Given the description of an element on the screen output the (x, y) to click on. 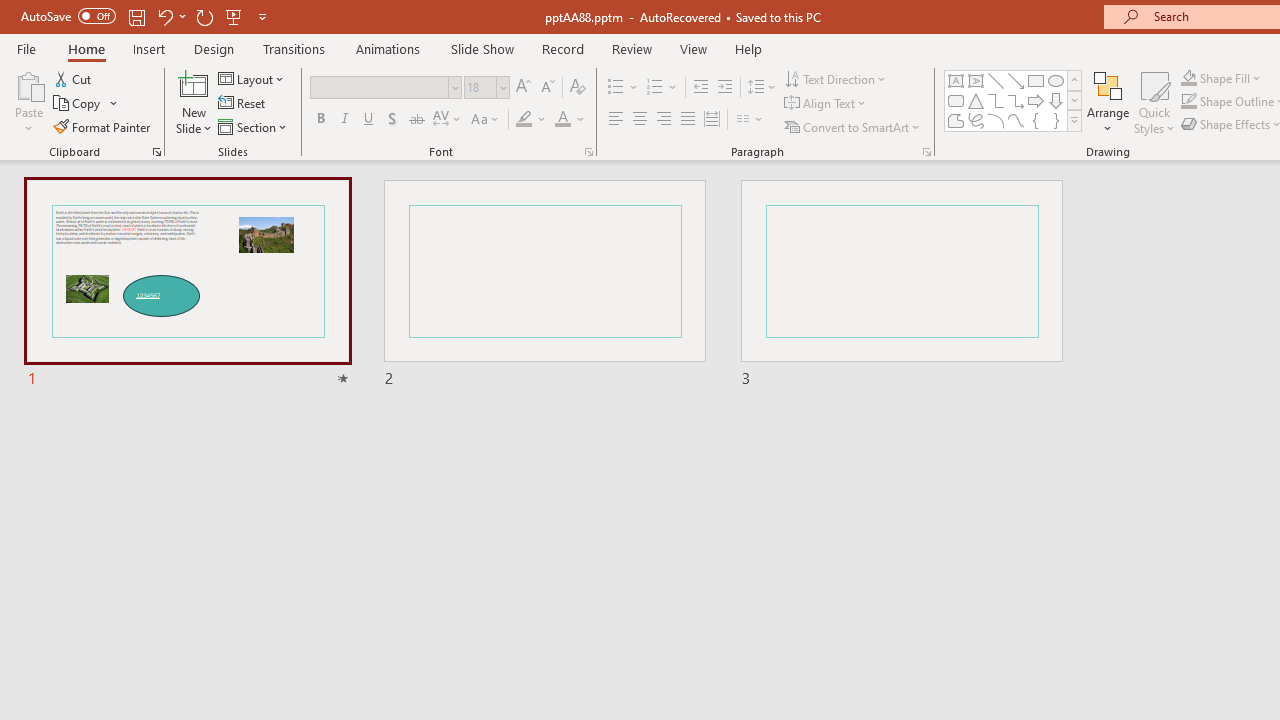
Line Spacing (762, 87)
Justify (687, 119)
Align Text (826, 103)
Isosceles Triangle (975, 100)
Font Color Red (562, 119)
Decrease Indent (700, 87)
